Given the description of an element on the screen output the (x, y) to click on. 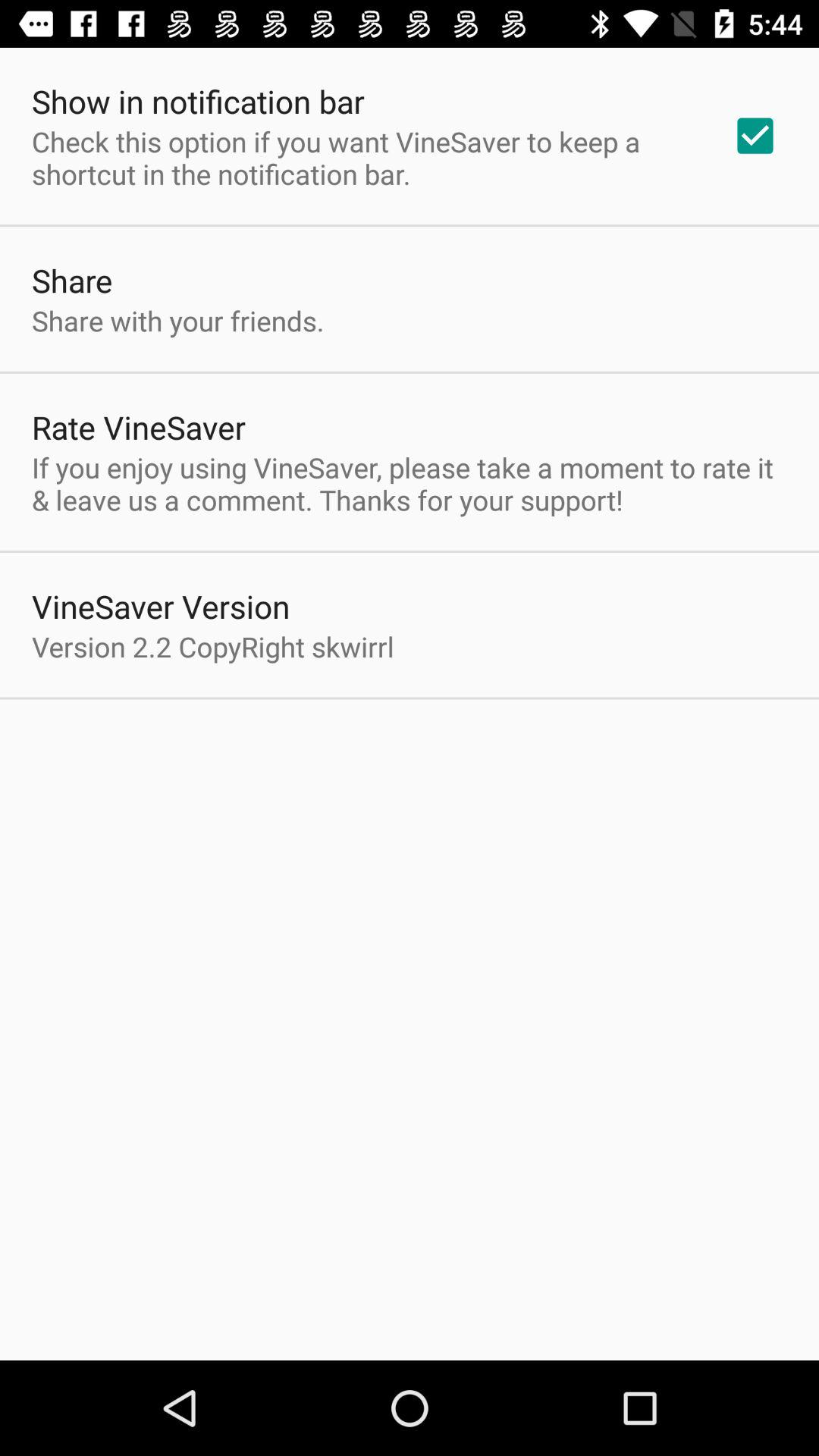
press icon next to the check this option item (755, 135)
